Given the description of an element on the screen output the (x, y) to click on. 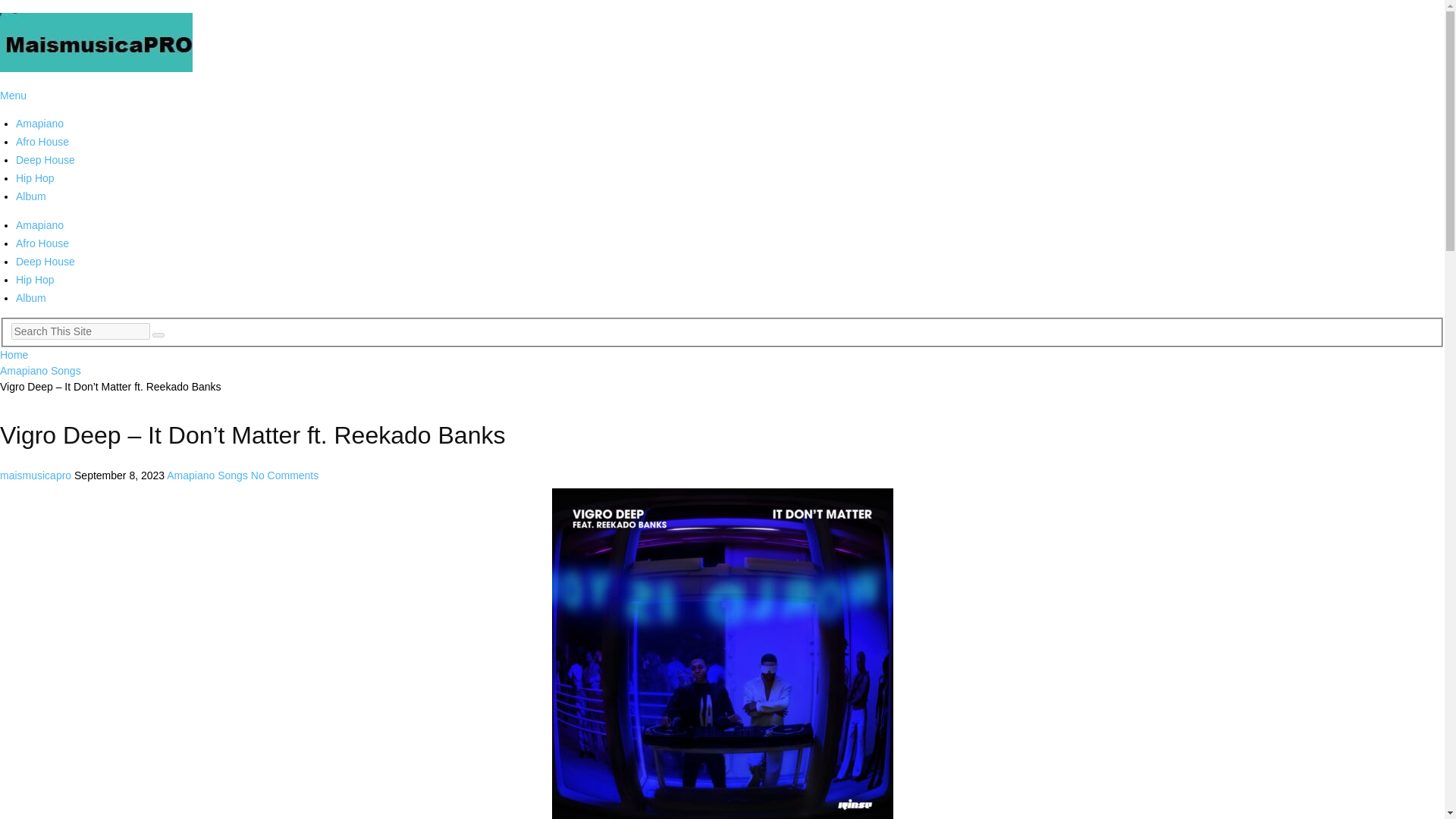
Afro House (42, 141)
Home (13, 354)
Amapiano (40, 123)
Album (31, 297)
Hip Hop (35, 279)
No Comments (284, 475)
Posts by maismusicapro (35, 475)
Album (31, 196)
Menu (13, 95)
Deep House (45, 159)
